Given the description of an element on the screen output the (x, y) to click on. 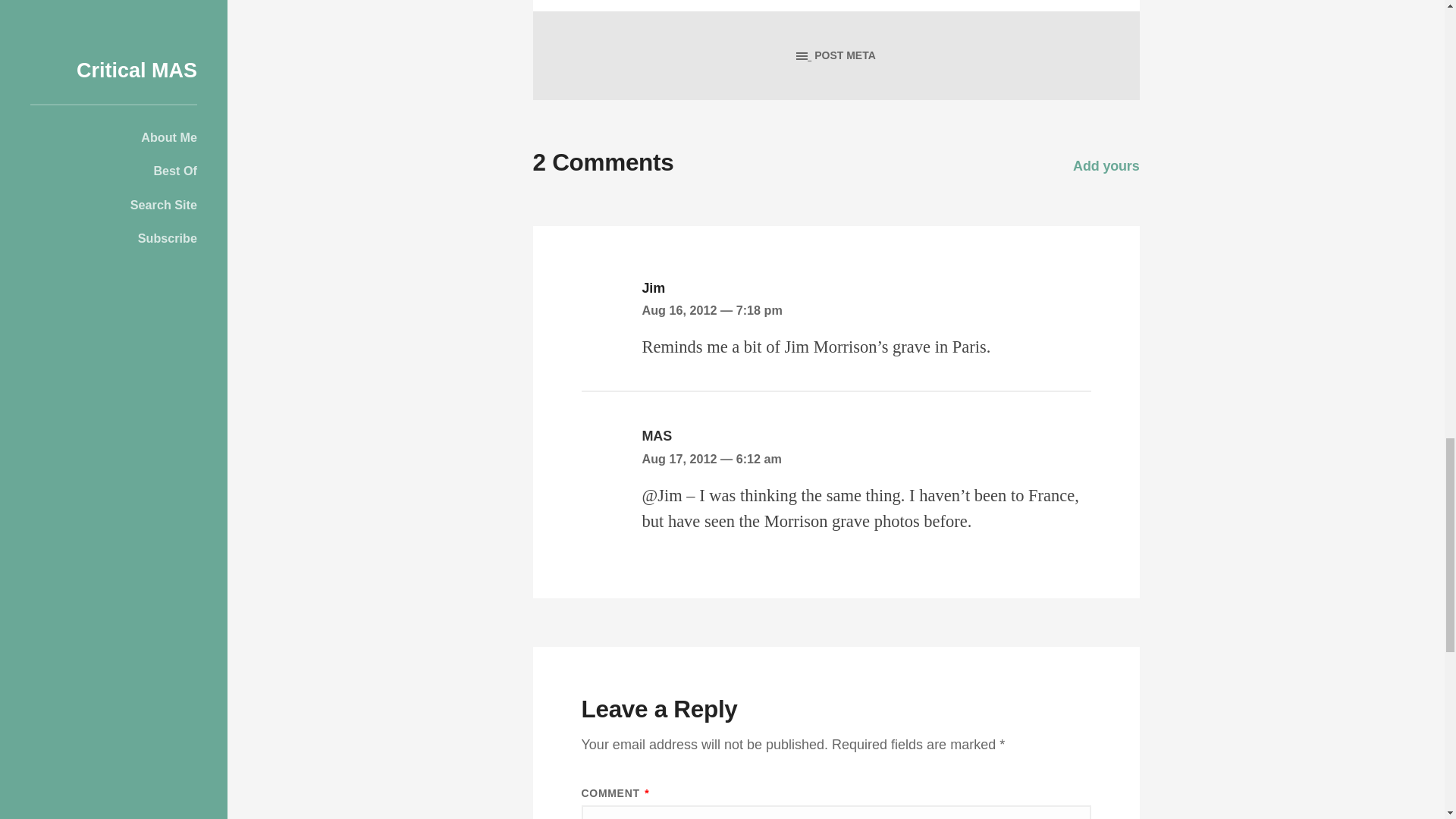
Add yours (1105, 165)
POST META (835, 55)
MAS (656, 435)
